Given the description of an element on the screen output the (x, y) to click on. 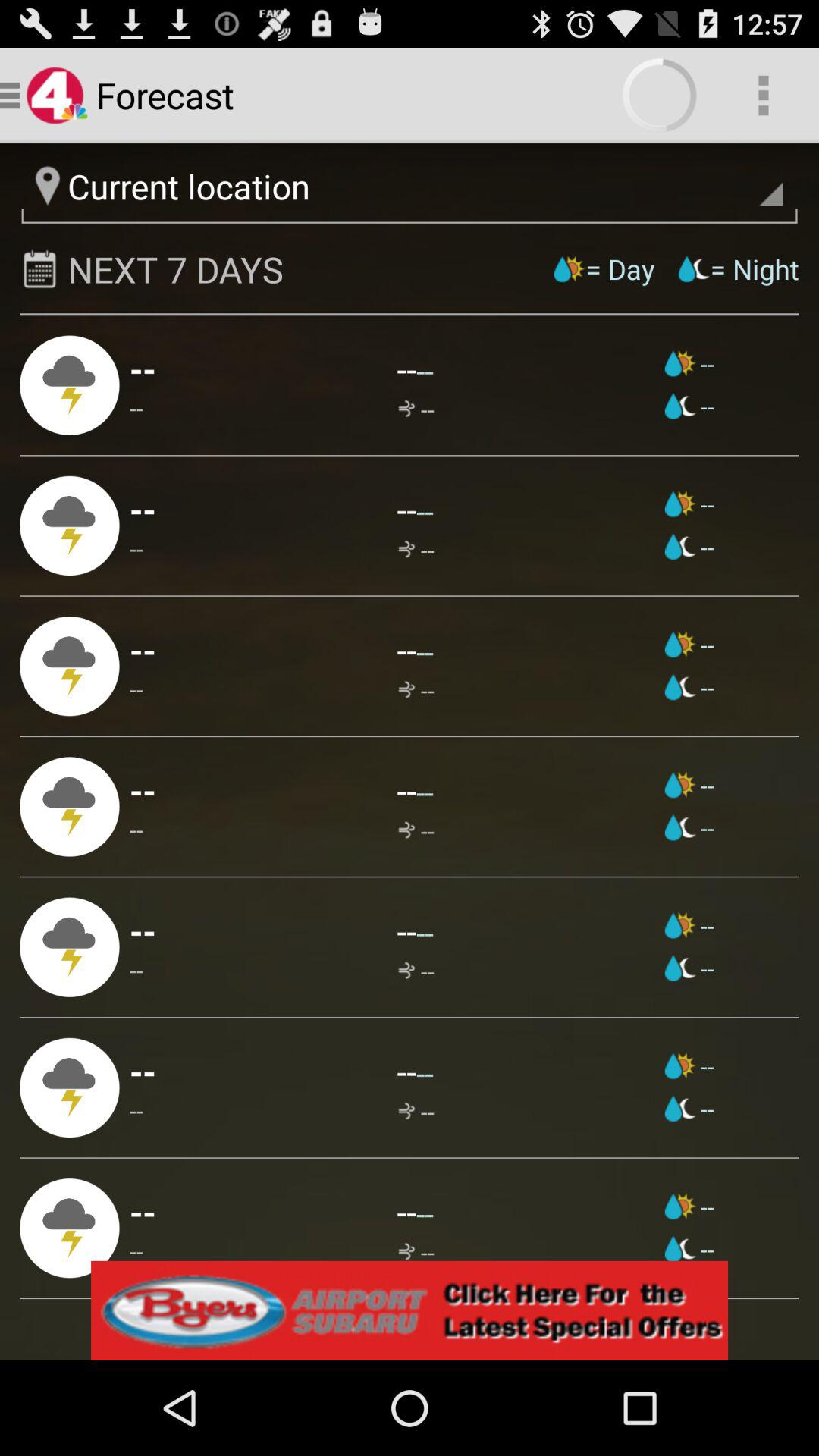
see special offers (409, 1310)
